Given the description of an element on the screen output the (x, y) to click on. 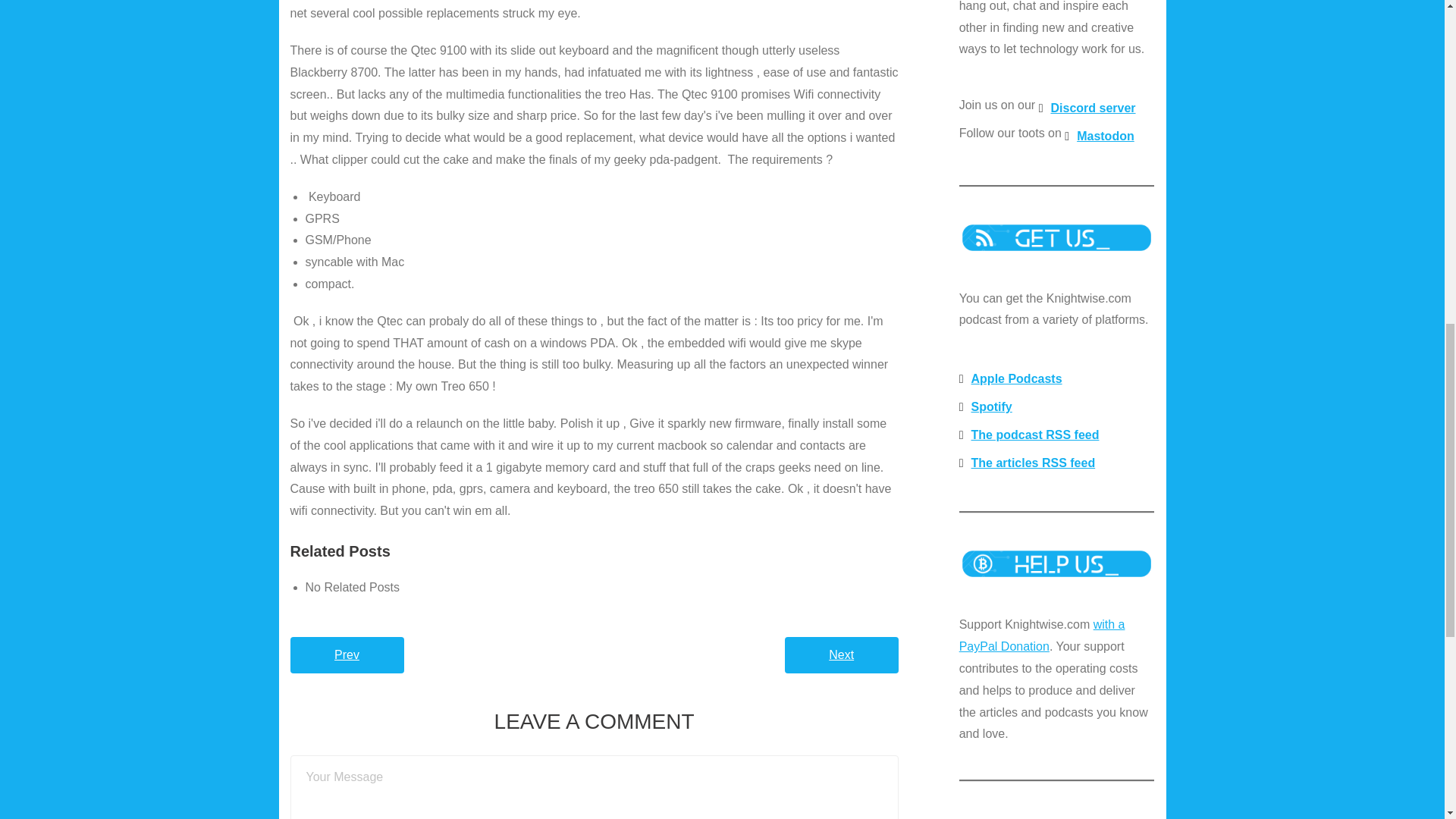
Prev (346, 655)
The podcast RSS feed (1029, 435)
Apple Podcasts (1010, 379)
Mastodon (1099, 136)
Spotify (985, 407)
with a PayPal Donation (1042, 635)
Next (841, 655)
The articles RSS feed (1026, 463)
Discord server (1087, 108)
